Given the description of an element on the screen output the (x, y) to click on. 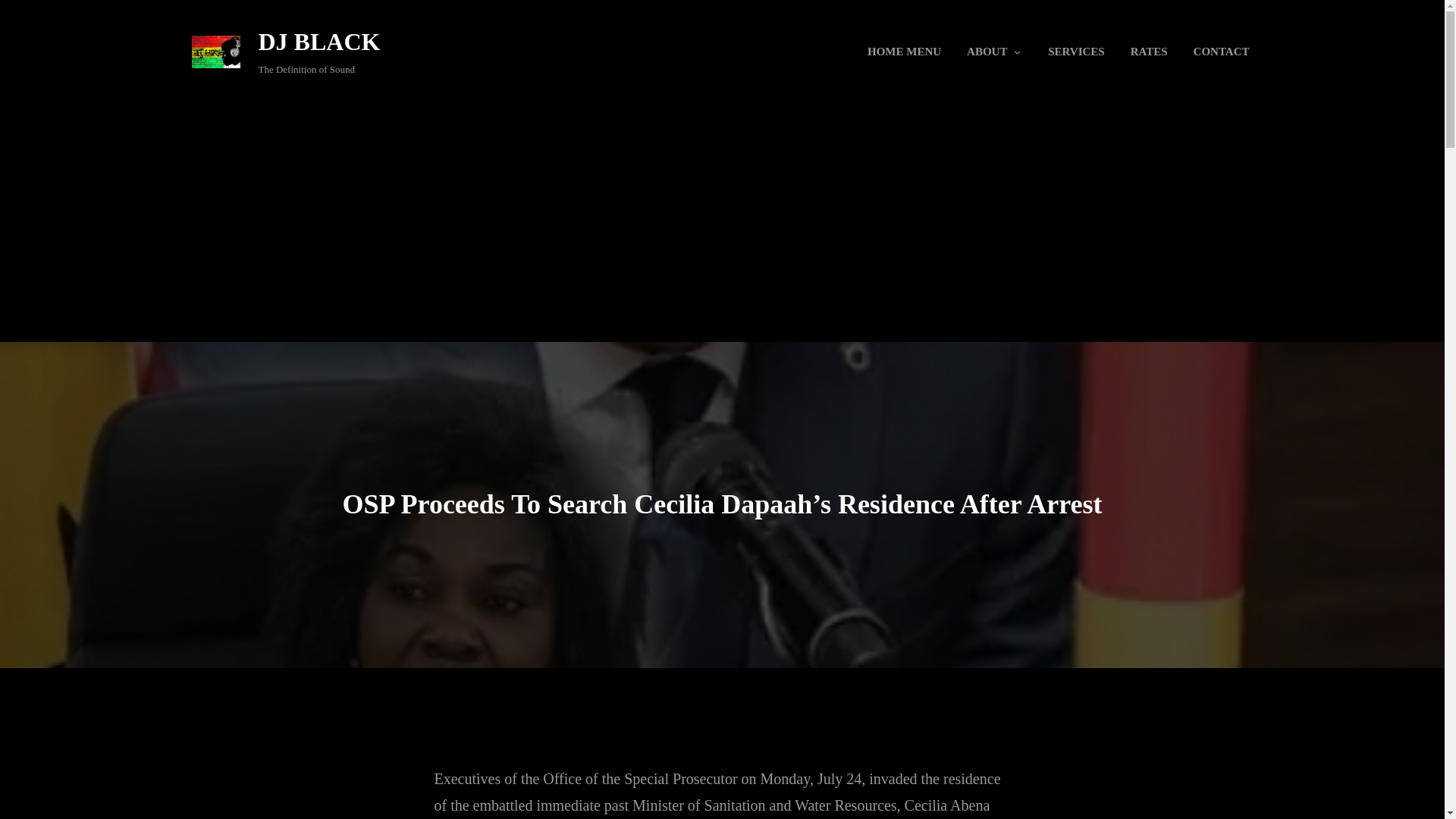
HOME MENU (903, 51)
SERVICES (1075, 51)
CONTACT (1221, 51)
DJ BLACK (318, 41)
ABOUT (986, 51)
RATES (1149, 51)
